Given the description of an element on the screen output the (x, y) to click on. 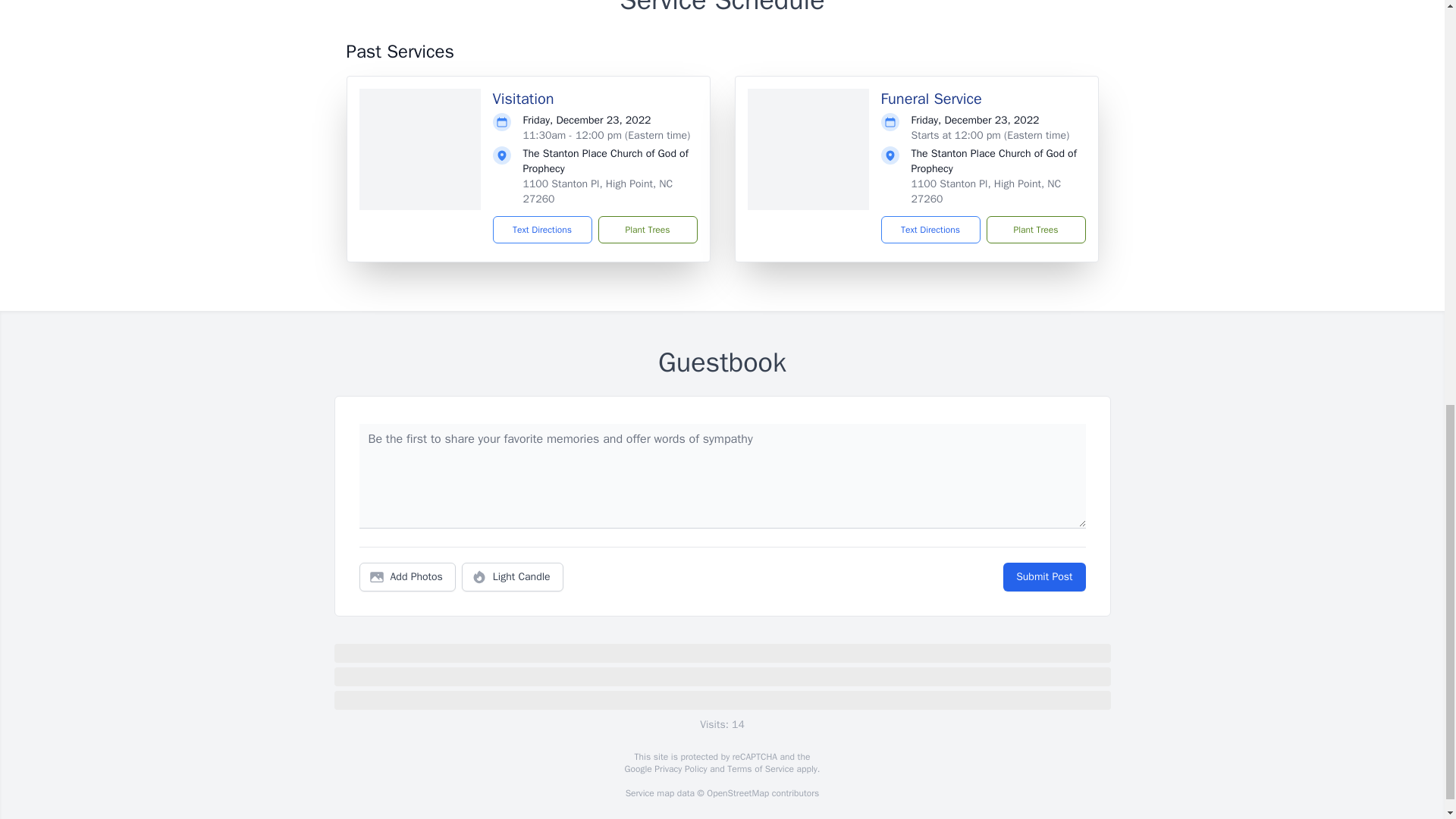
Text Directions (542, 229)
Privacy Policy (679, 768)
Plant Trees (1034, 229)
Submit Post (1043, 576)
1100 Stanton Pl, High Point, NC 27260 (986, 191)
Plant Trees (646, 229)
OpenStreetMap (737, 793)
Terms of Service (759, 768)
Add Photos (407, 576)
Light Candle (512, 576)
